Given the description of an element on the screen output the (x, y) to click on. 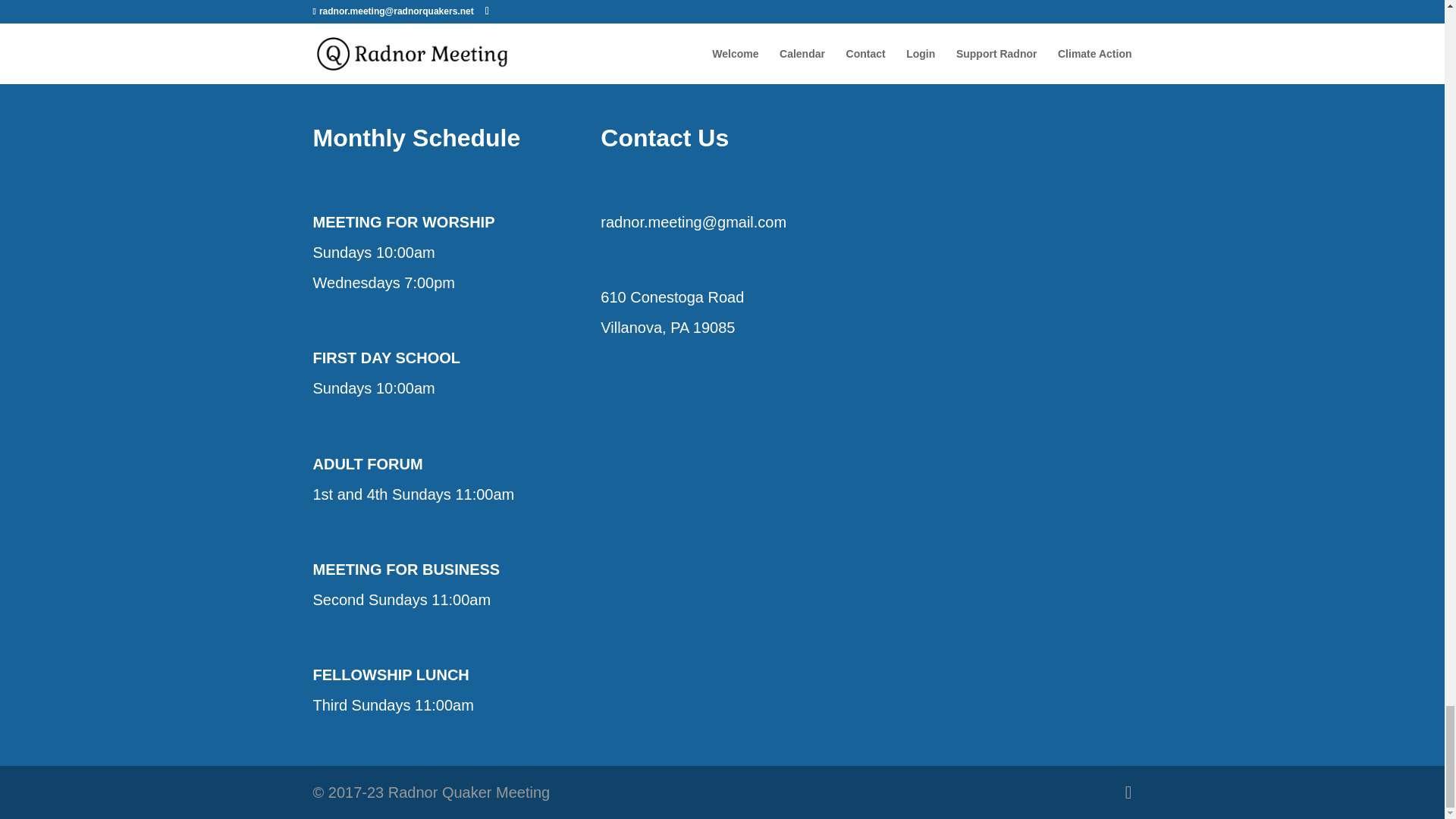
FWS.gov (622, 0)
